Given the description of an element on the screen output the (x, y) to click on. 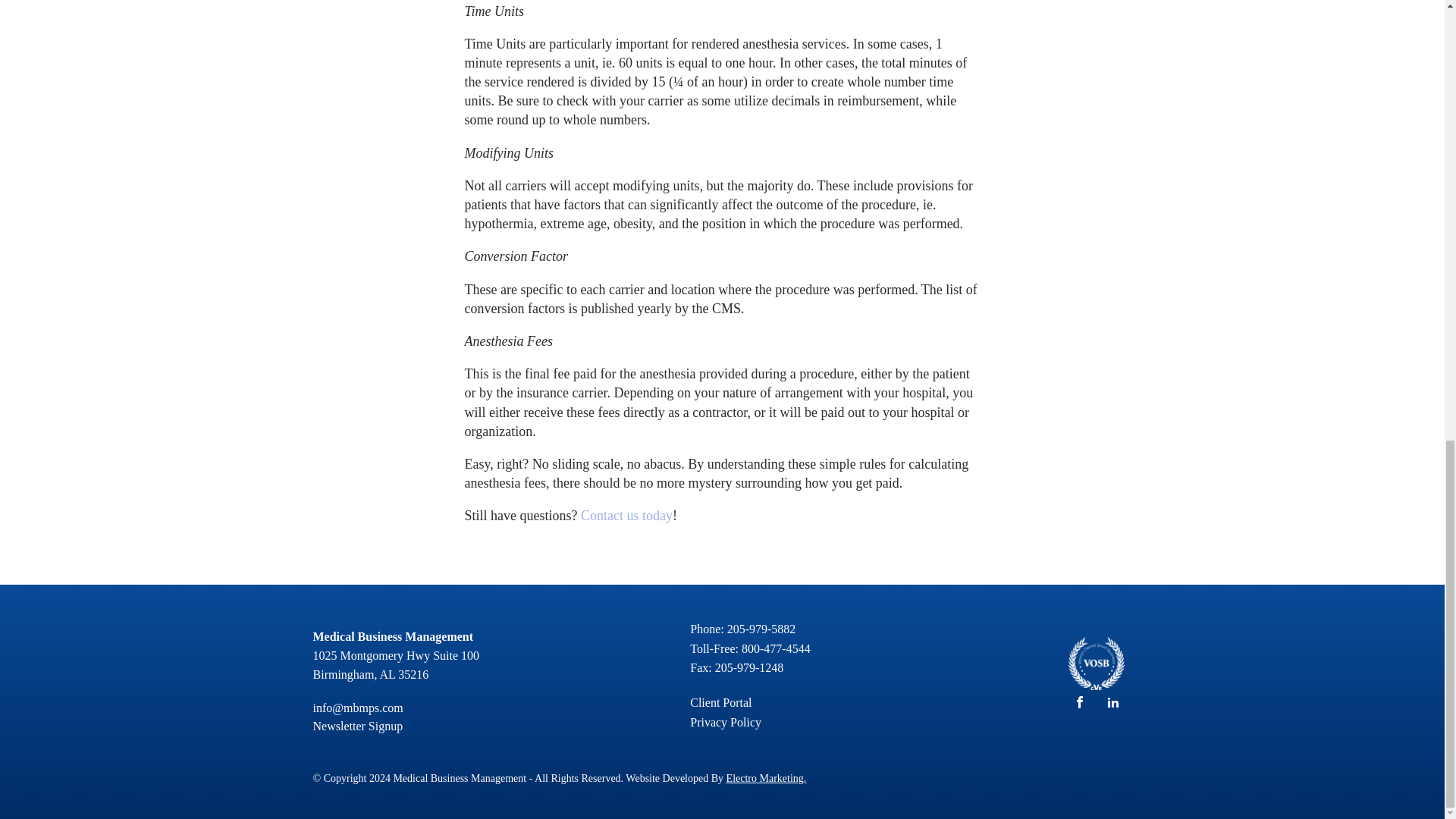
Privacy Policy (725, 722)
Electro Marketing. (766, 778)
Newsletter Signup (358, 726)
Contact us today (626, 515)
Client Portal (720, 702)
